Given the description of an element on the screen output the (x, y) to click on. 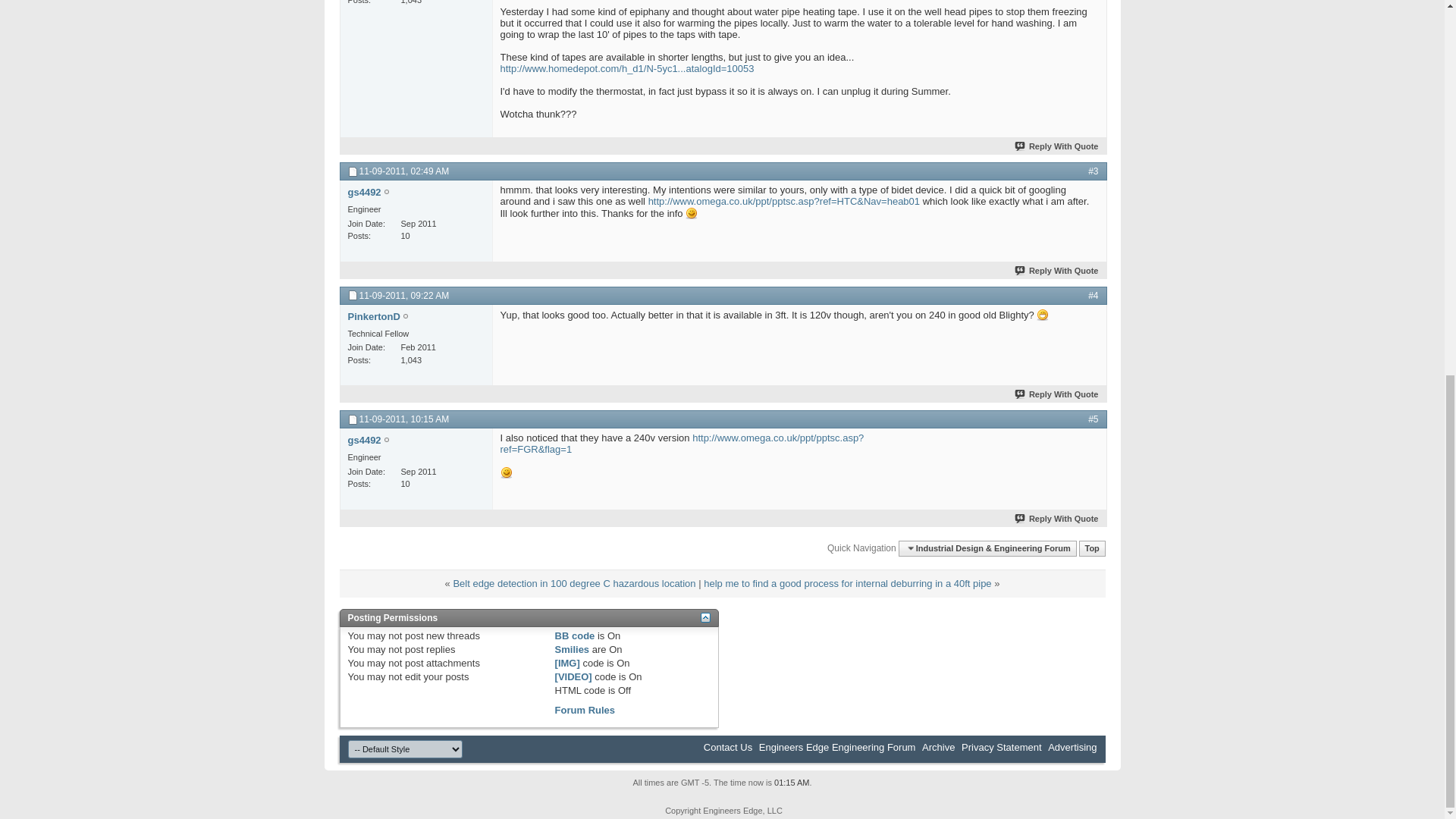
gs4492 is offline (363, 192)
gs4492 is offline (386, 192)
